Given the description of an element on the screen output the (x, y) to click on. 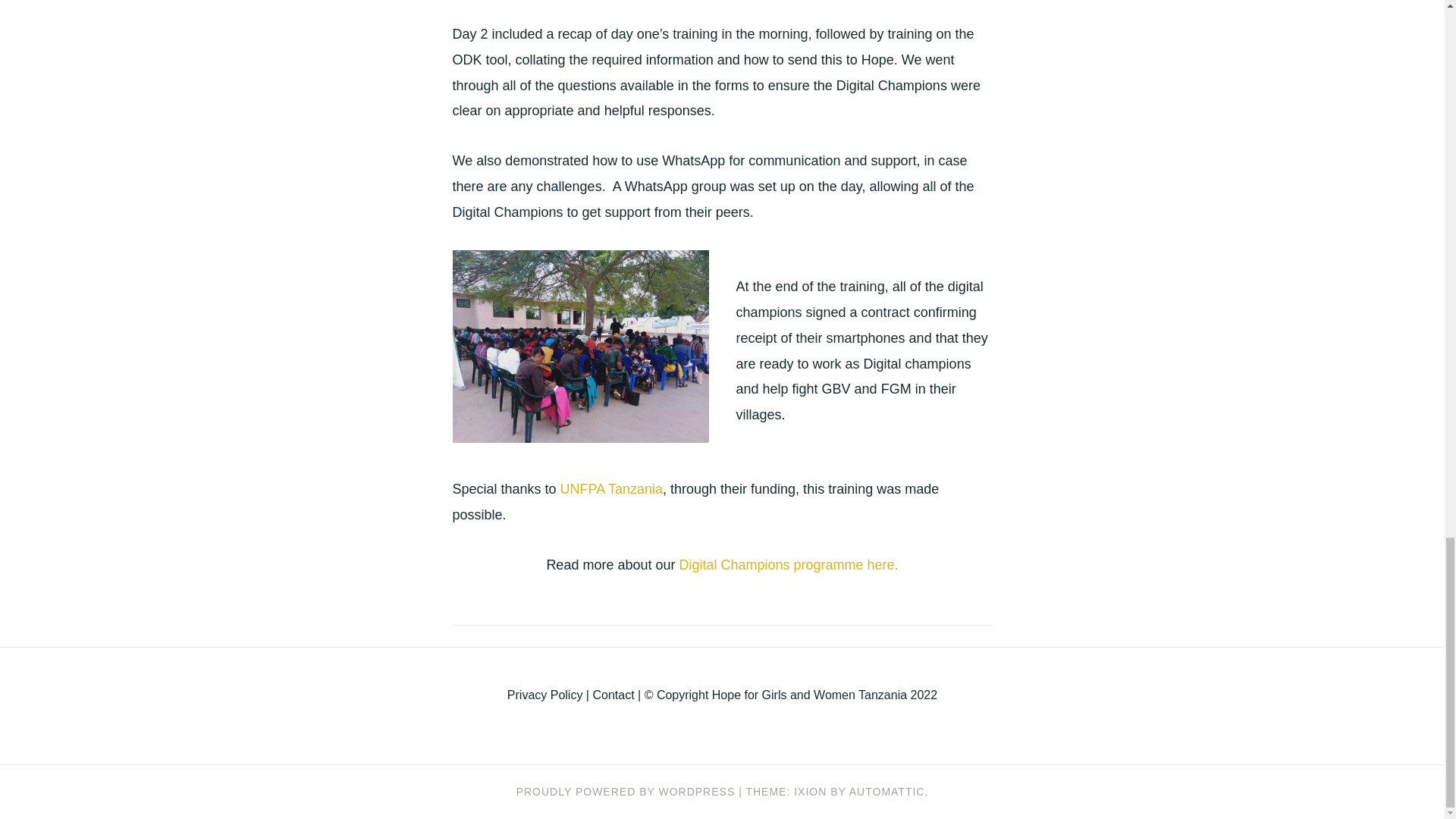
Digital Champions programme here. (788, 564)
UNFPA Tanzania (611, 488)
Privacy Policy (544, 694)
